Given the description of an element on the screen output the (x, y) to click on. 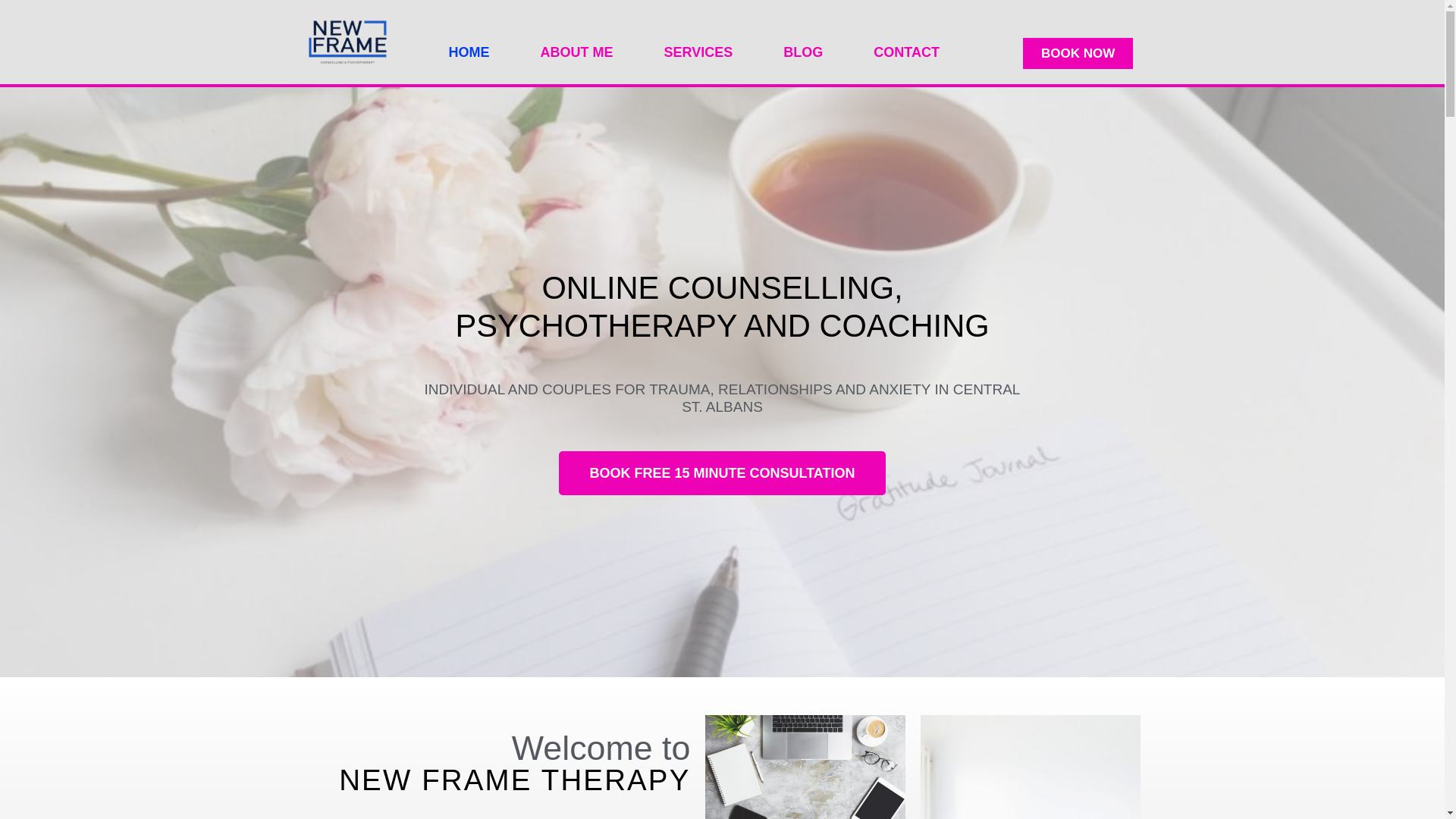
BOOK FREE 15 MINUTE CONSULTATION (722, 472)
ABOUT ME (576, 52)
BLOG (802, 52)
CONTACT (906, 52)
BOOK NOW (1077, 52)
HOME (468, 52)
SERVICES (698, 52)
